Given the description of an element on the screen output the (x, y) to click on. 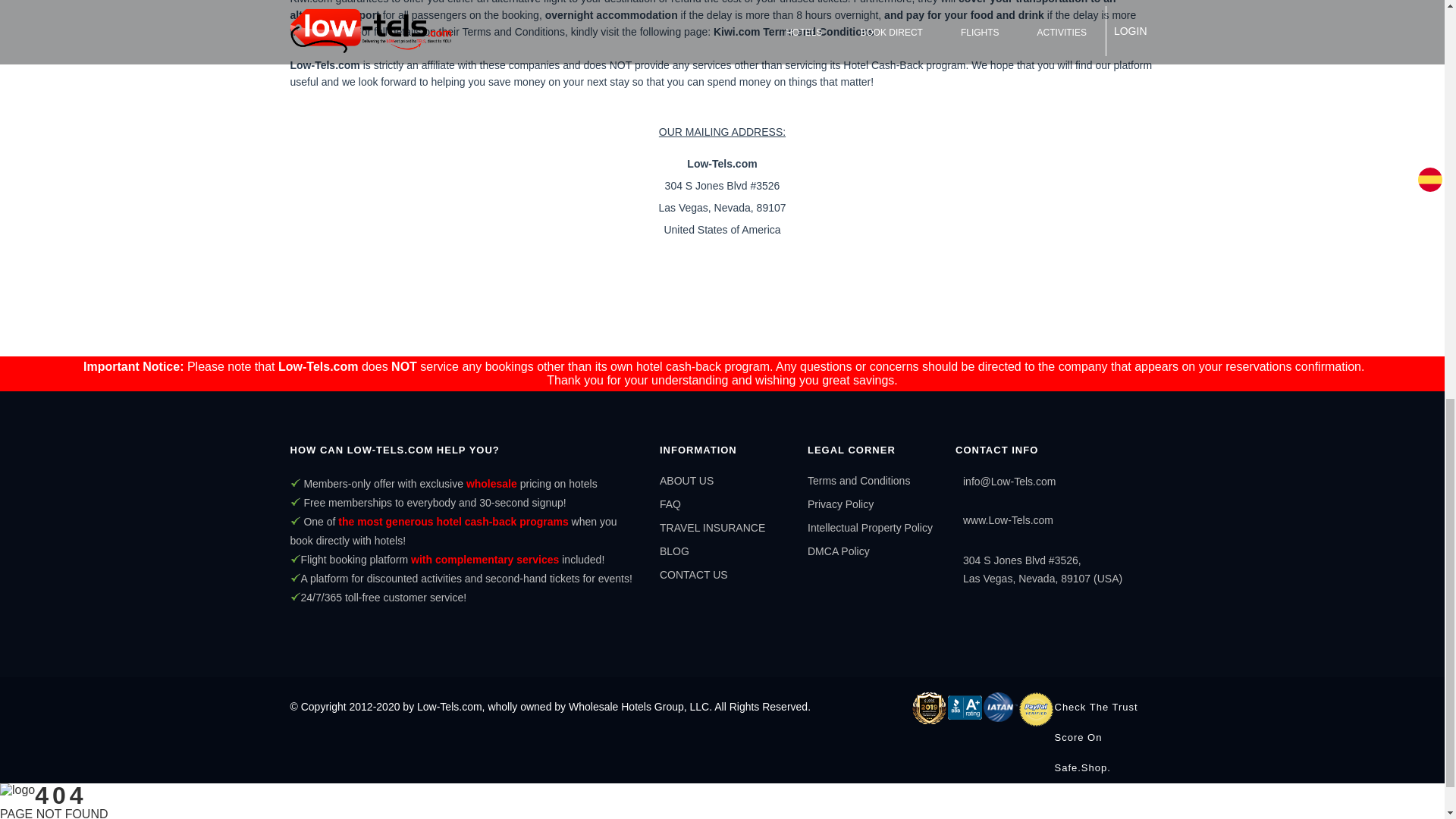
BLOG (673, 551)
CONTACT US (693, 574)
www.Low-Tels.com (1007, 520)
TRAVEL INSURANCE (712, 527)
DMCA Policy (838, 551)
Kiwi.com Terms and Conditions (794, 31)
Check The Trust Score On Safe.Shop. (1104, 737)
ABOUT US (686, 480)
Intellectual Property Policy (870, 527)
Terms and Conditions (859, 480)
Privacy Policy (840, 503)
FAQ (670, 503)
